Given the description of an element on the screen output the (x, y) to click on. 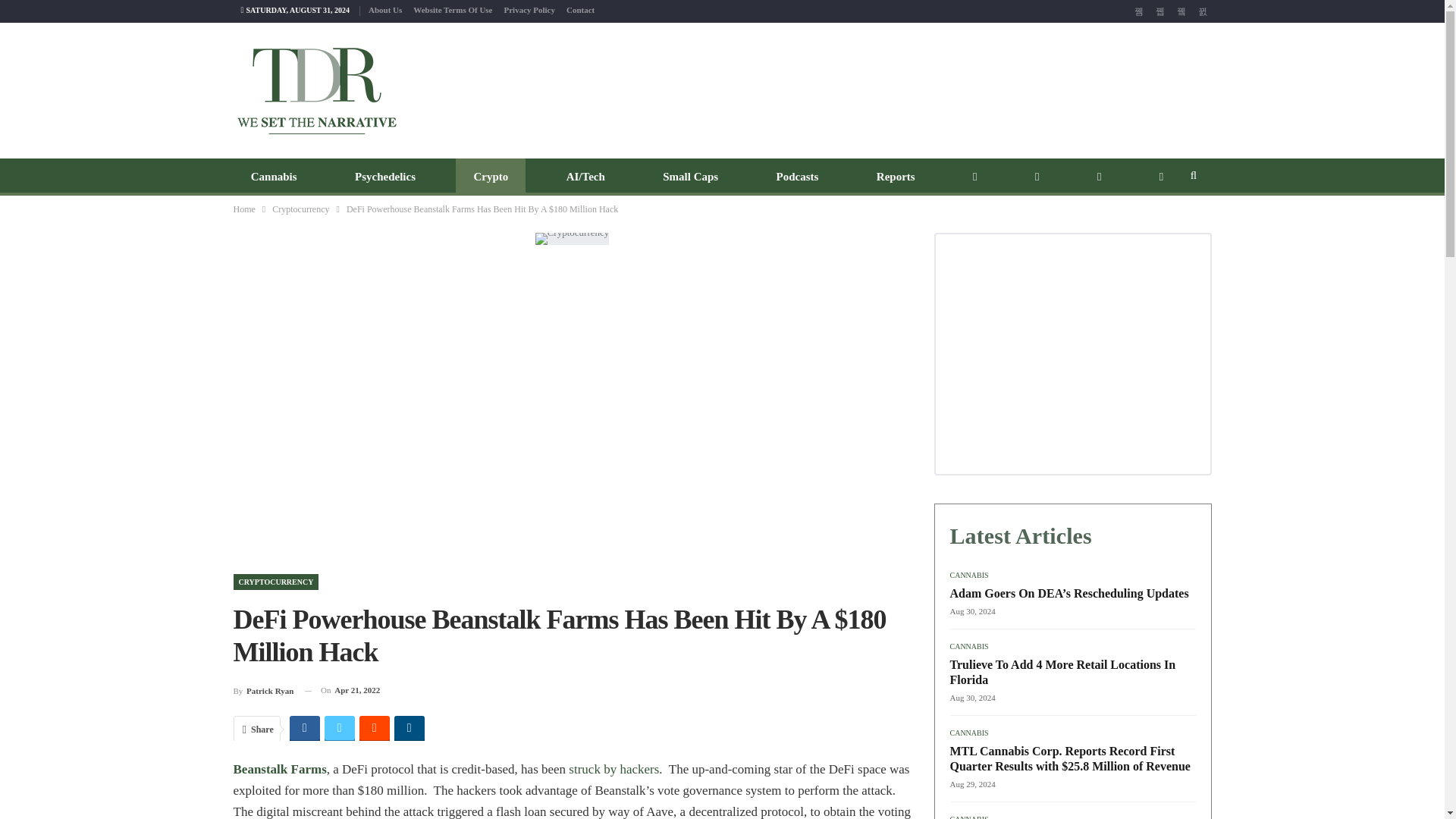
Privacy Policy (528, 9)
Contact (580, 9)
About Us (384, 9)
Reports (896, 176)
Podcasts (796, 176)
Cryptocurrency (300, 208)
struck by hackers (612, 769)
CRYPTOCURRENCY (275, 581)
Cannabis (273, 176)
Small Caps (690, 176)
